Given the description of an element on the screen output the (x, y) to click on. 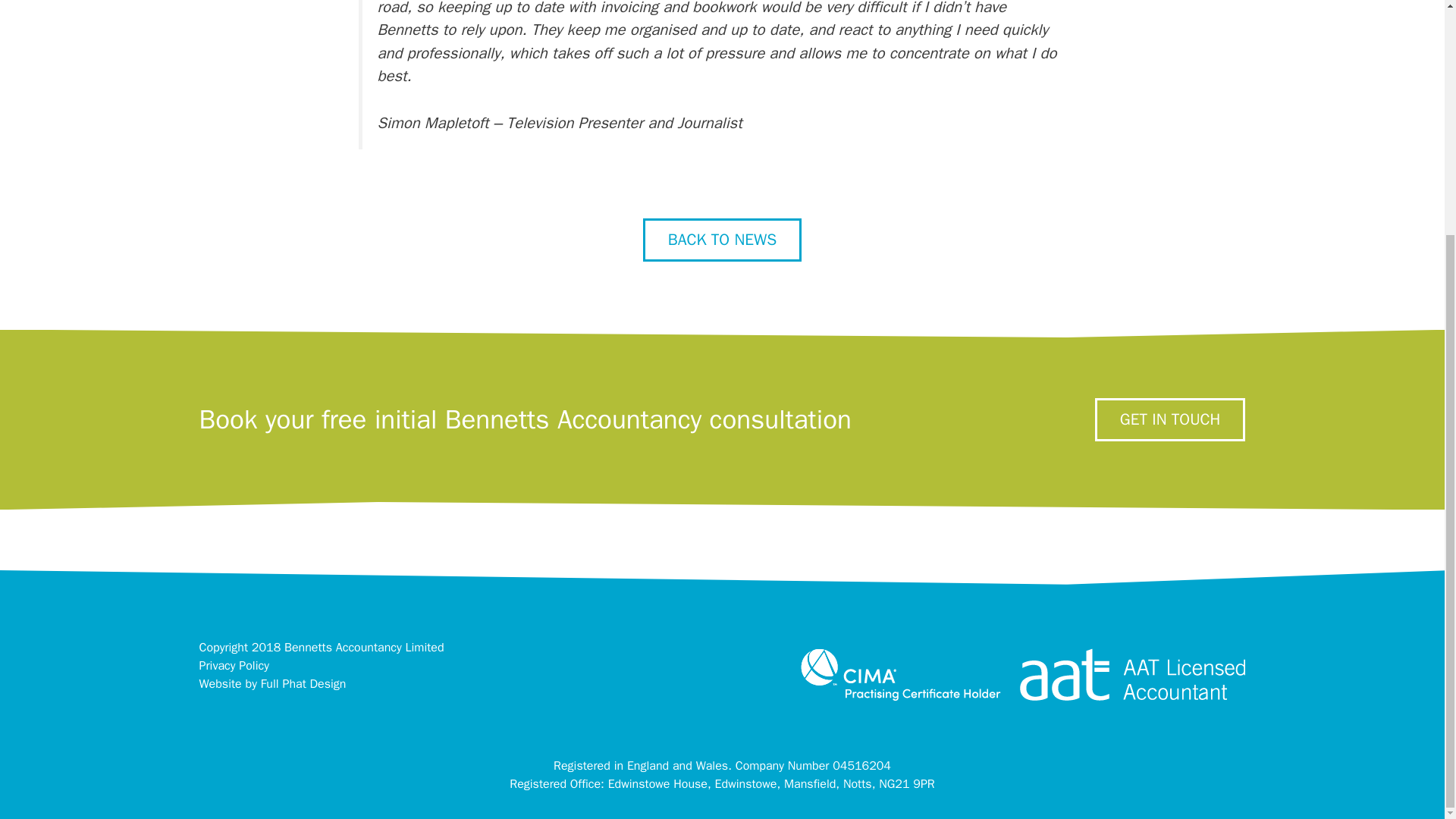
BACK TO NEWS (722, 239)
Full Phat Design (303, 683)
GET IN TOUCH (1214, 419)
Privacy Policy (232, 665)
